Given the description of an element on the screen output the (x, y) to click on. 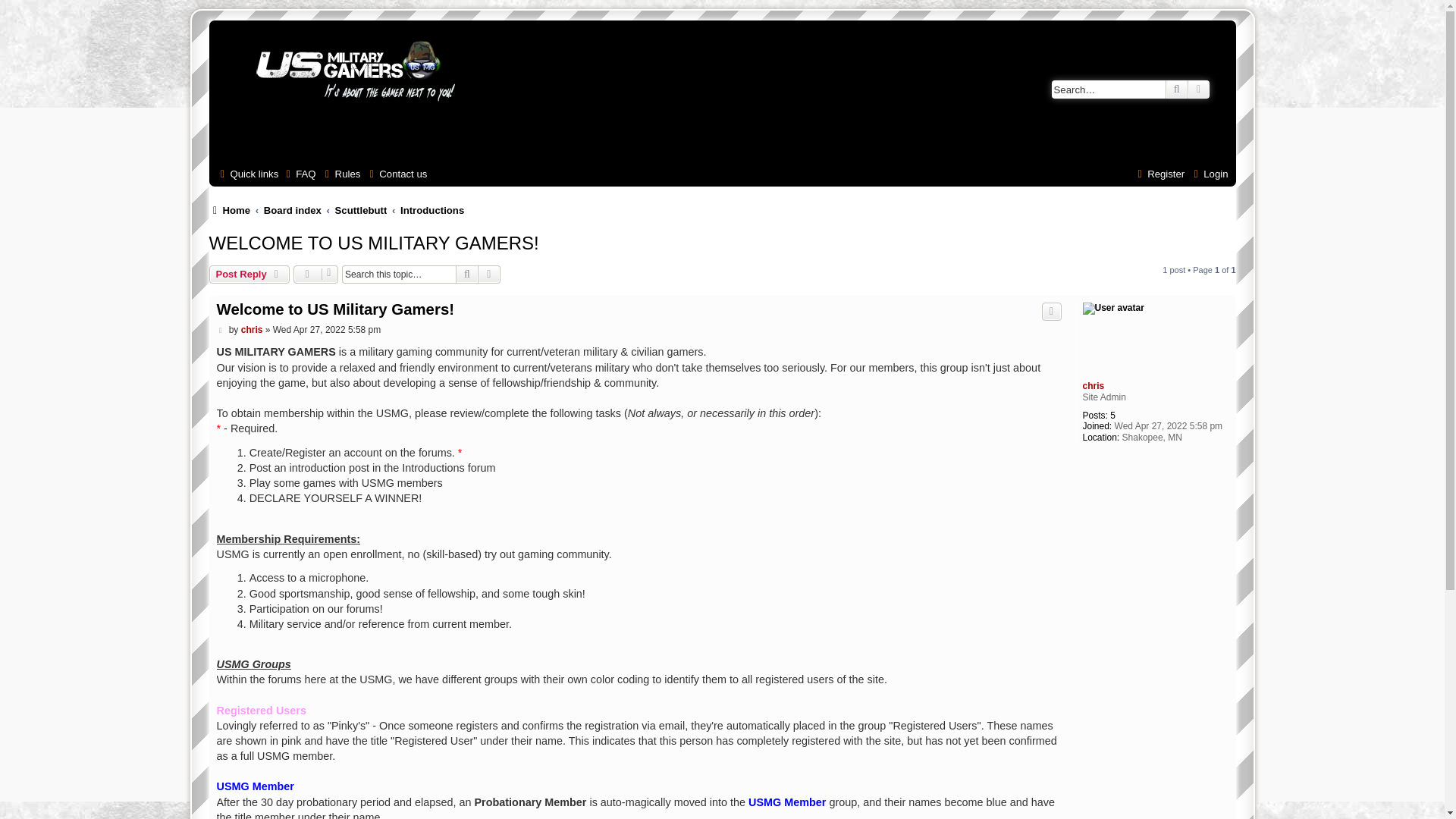
Contact us (395, 173)
Quote (1051, 311)
Search for keywords (1108, 89)
Welcome to US Military Gamers! (335, 310)
Login (1208, 173)
Post a reply (249, 274)
Board index (292, 210)
FAQ (298, 173)
Register (1159, 173)
Search (467, 274)
View the Rules of this Board (341, 173)
Home (229, 210)
Introductions (432, 210)
Post (221, 329)
Reply with quote (1051, 311)
